Given the description of an element on the screen output the (x, y) to click on. 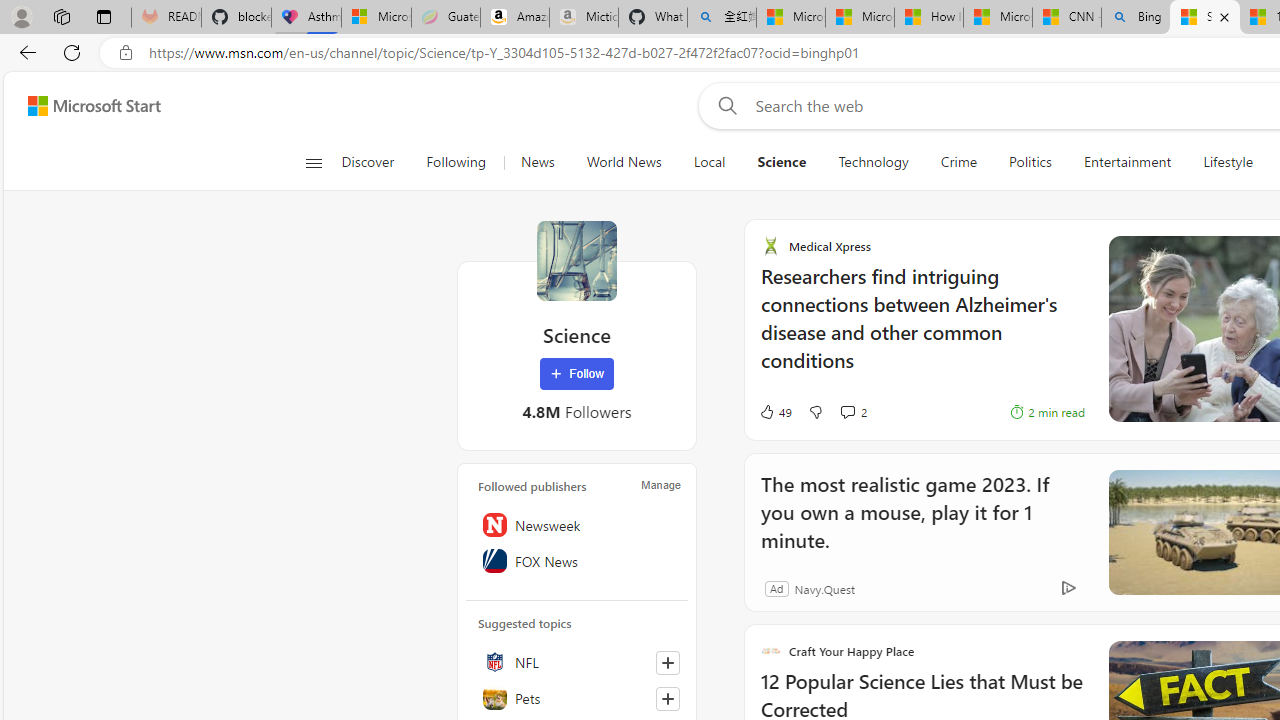
Class: button-glyph (313, 162)
